Given the description of an element on the screen output the (x, y) to click on. 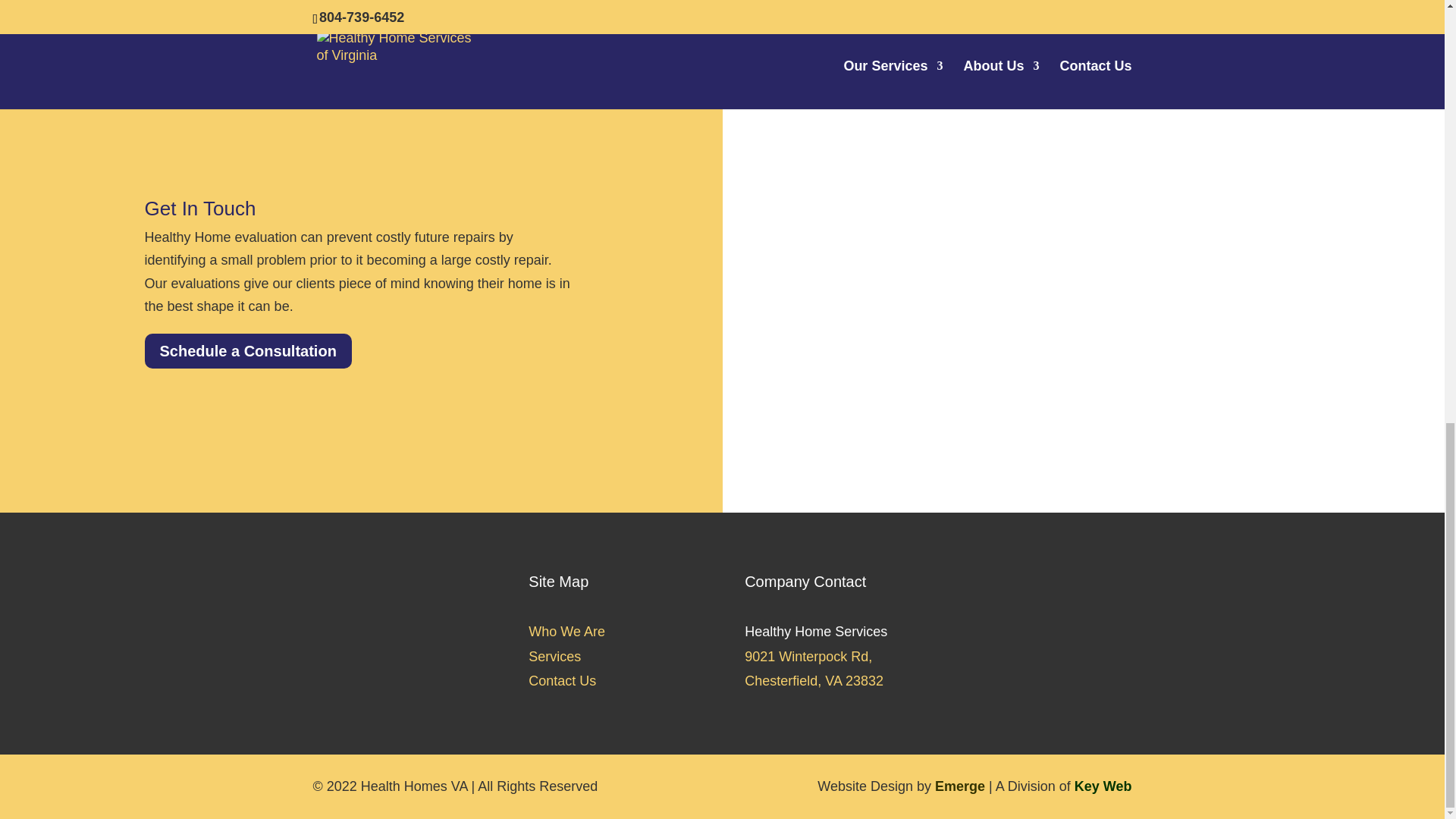
Emerge (959, 785)
Key Web (1103, 785)
Who We Are (566, 631)
Contact Us (561, 680)
9021 Winterpock Rd, (808, 656)
Chesterfield, VA 23832 (813, 680)
Services (554, 656)
Schedule a Consultation (247, 350)
